Given the description of an element on the screen output the (x, y) to click on. 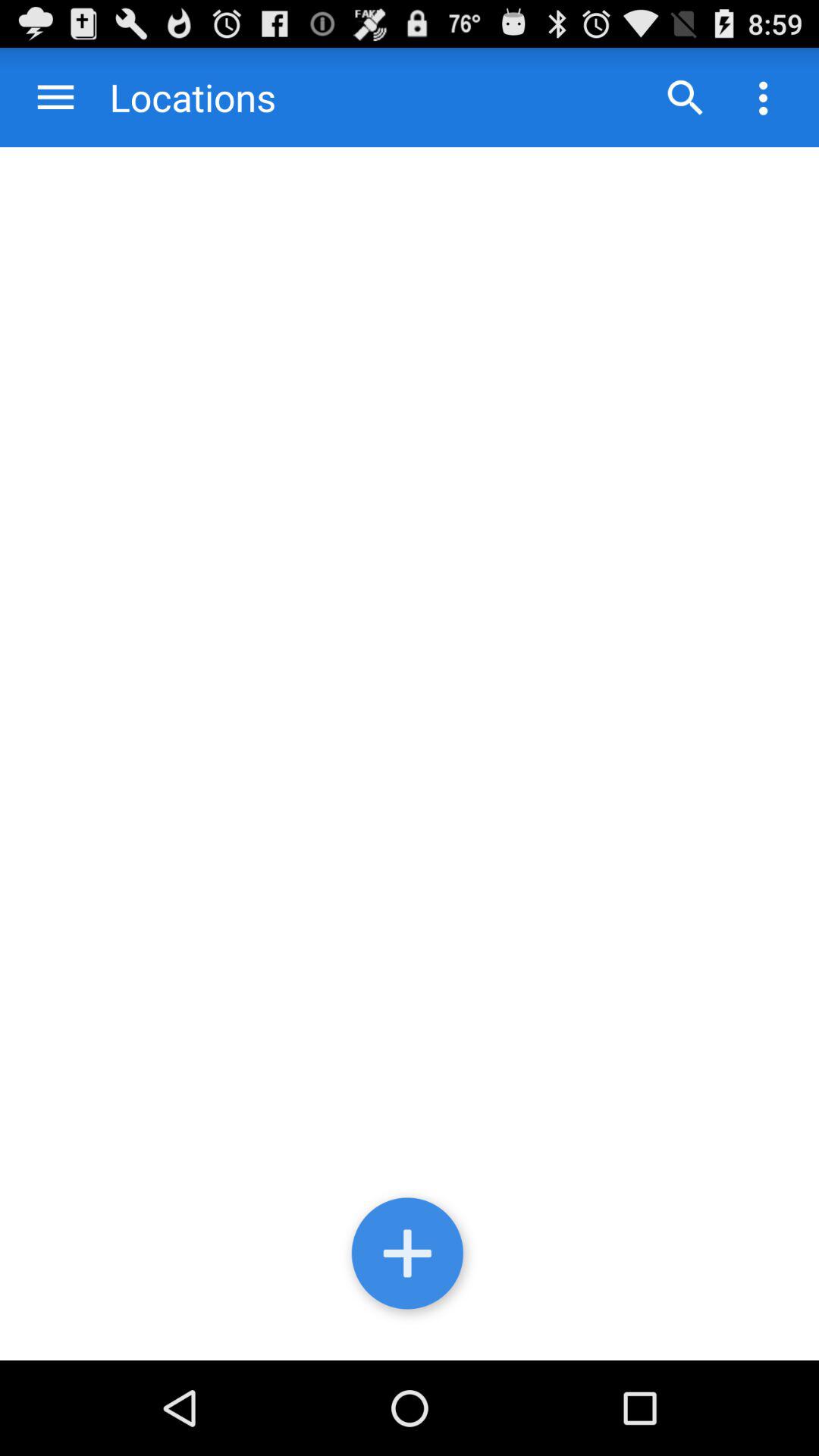
open the sub-menu for this page (763, 97)
